Given the description of an element on the screen output the (x, y) to click on. 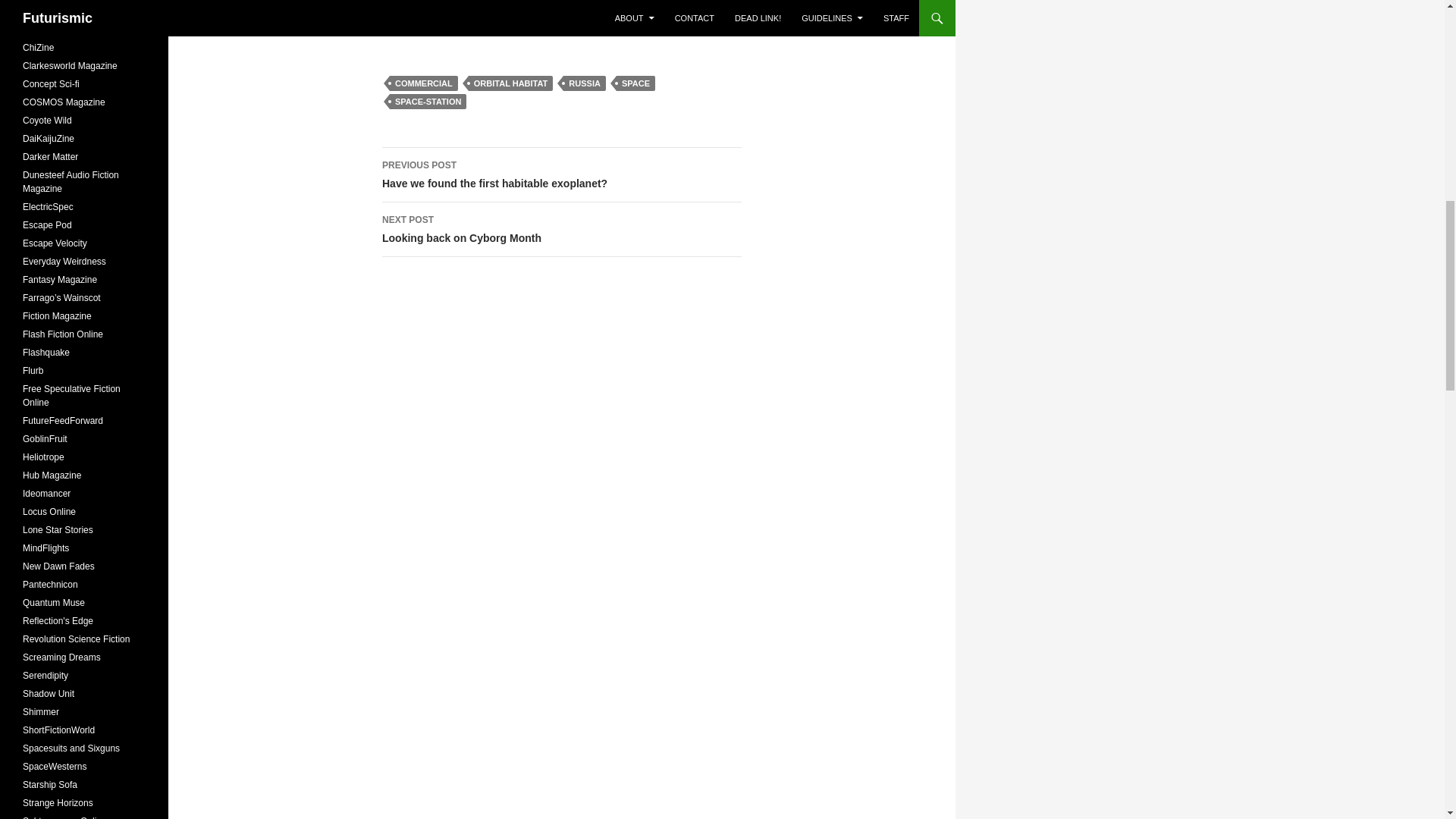
RUSSIA (584, 83)
SPACE (635, 83)
COMMERCIAL (424, 83)
SPACE-STATION (561, 229)
ORBITAL HABITAT (427, 101)
